Given the description of an element on the screen output the (x, y) to click on. 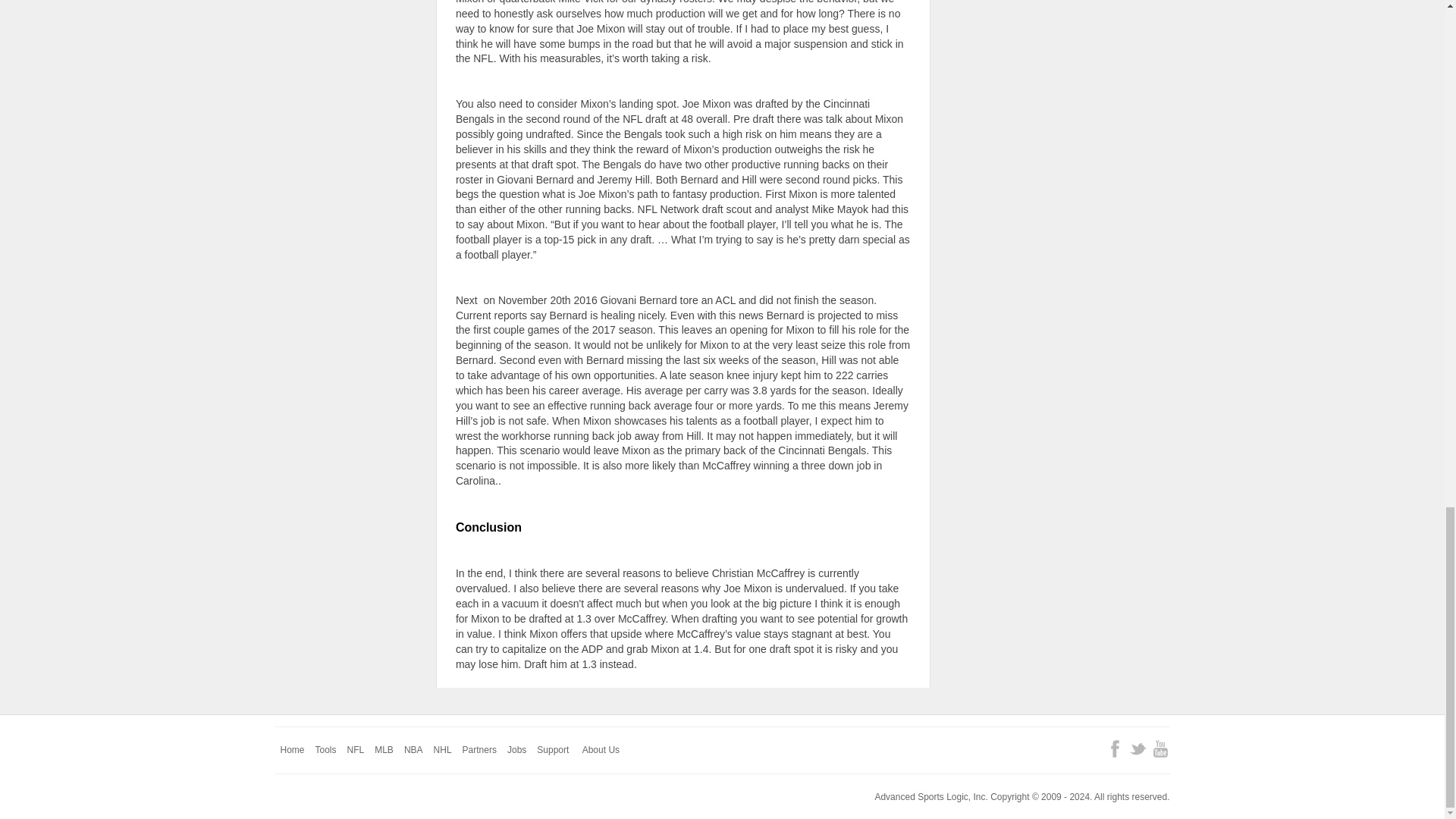
ASL on Twitter (1137, 748)
ASL on Facebook (1114, 748)
ASL on YouTube (1160, 748)
